Given the description of an element on the screen output the (x, y) to click on. 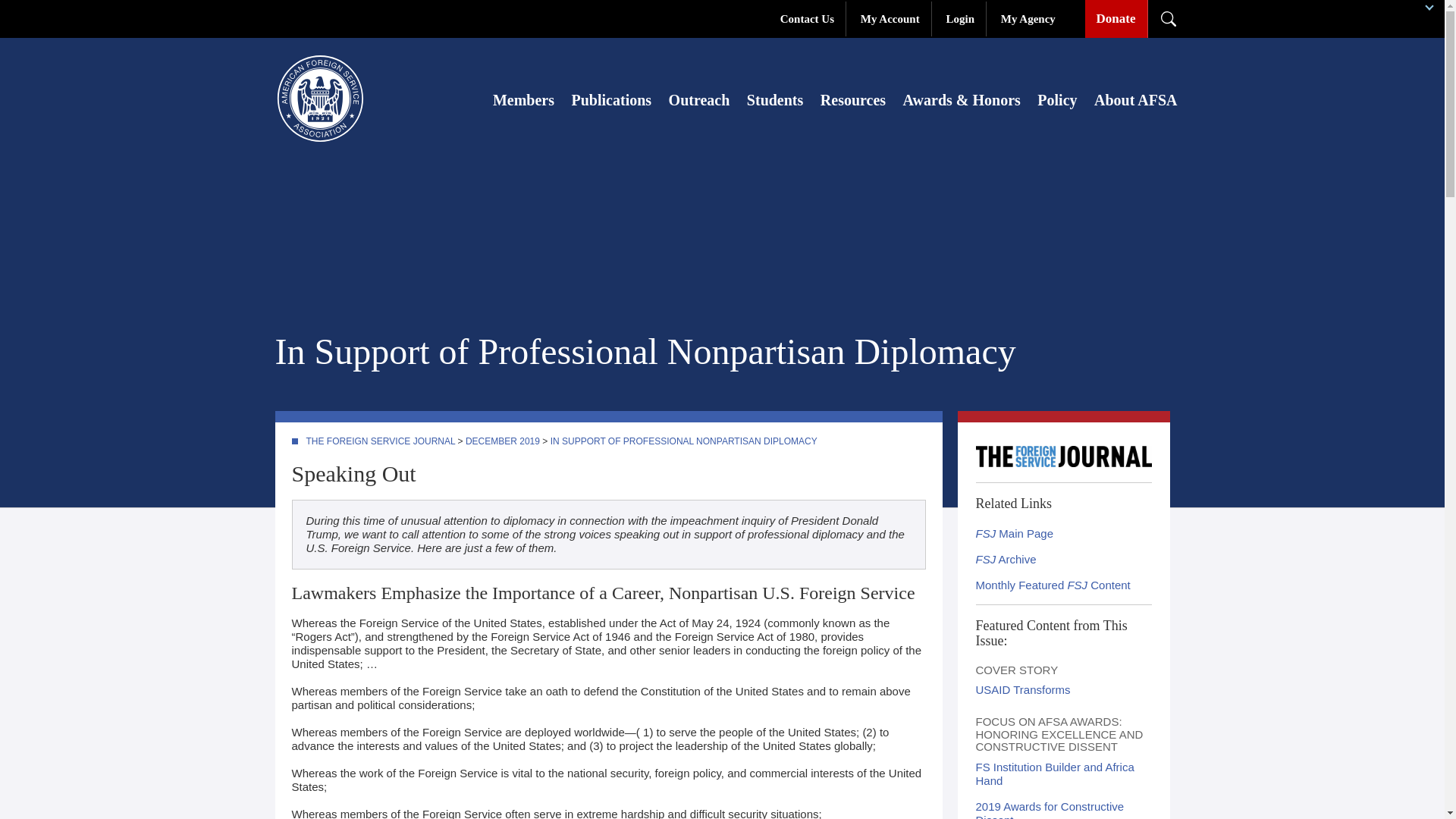
Outreach (699, 99)
Members (523, 99)
Login (960, 18)
Publications (612, 99)
Students (774, 99)
About AFSA (1135, 99)
Resources (853, 99)
My Account (889, 18)
Contact Us (806, 18)
American Foreign Service Association (319, 98)
